Given the description of an element on the screen output the (x, y) to click on. 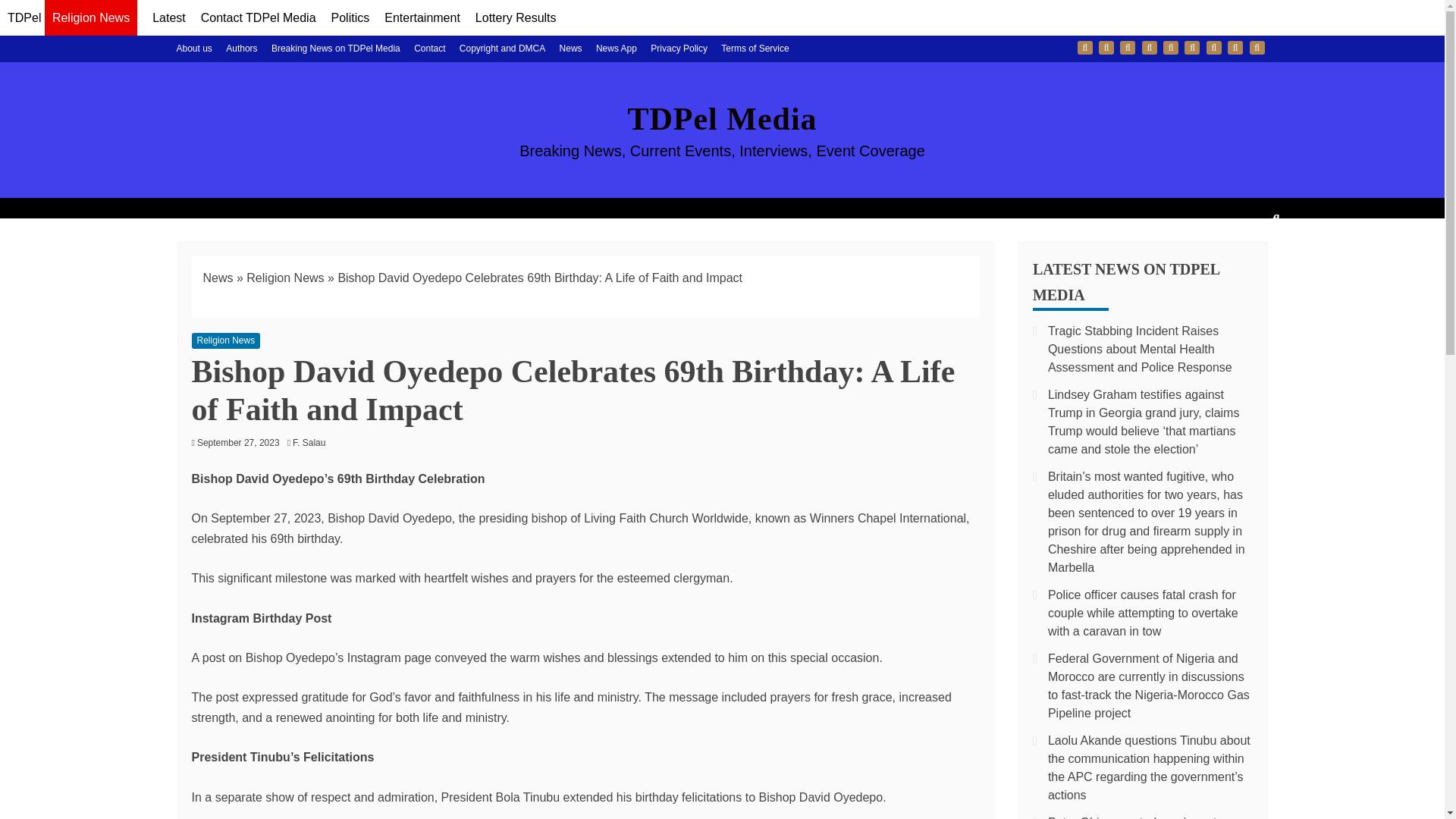
News (217, 277)
News App (616, 48)
Religion News (225, 340)
Contact (429, 48)
Authors (241, 48)
TDPel Media (721, 118)
Breaking News on TDPel Media (1127, 47)
TDPel (23, 17)
News (570, 48)
Breaking News on TDPel Media (335, 48)
News (1192, 47)
Religion News (90, 19)
About us (1085, 47)
F. Salau (312, 442)
Politics (350, 17)
